Given the description of an element on the screen output the (x, y) to click on. 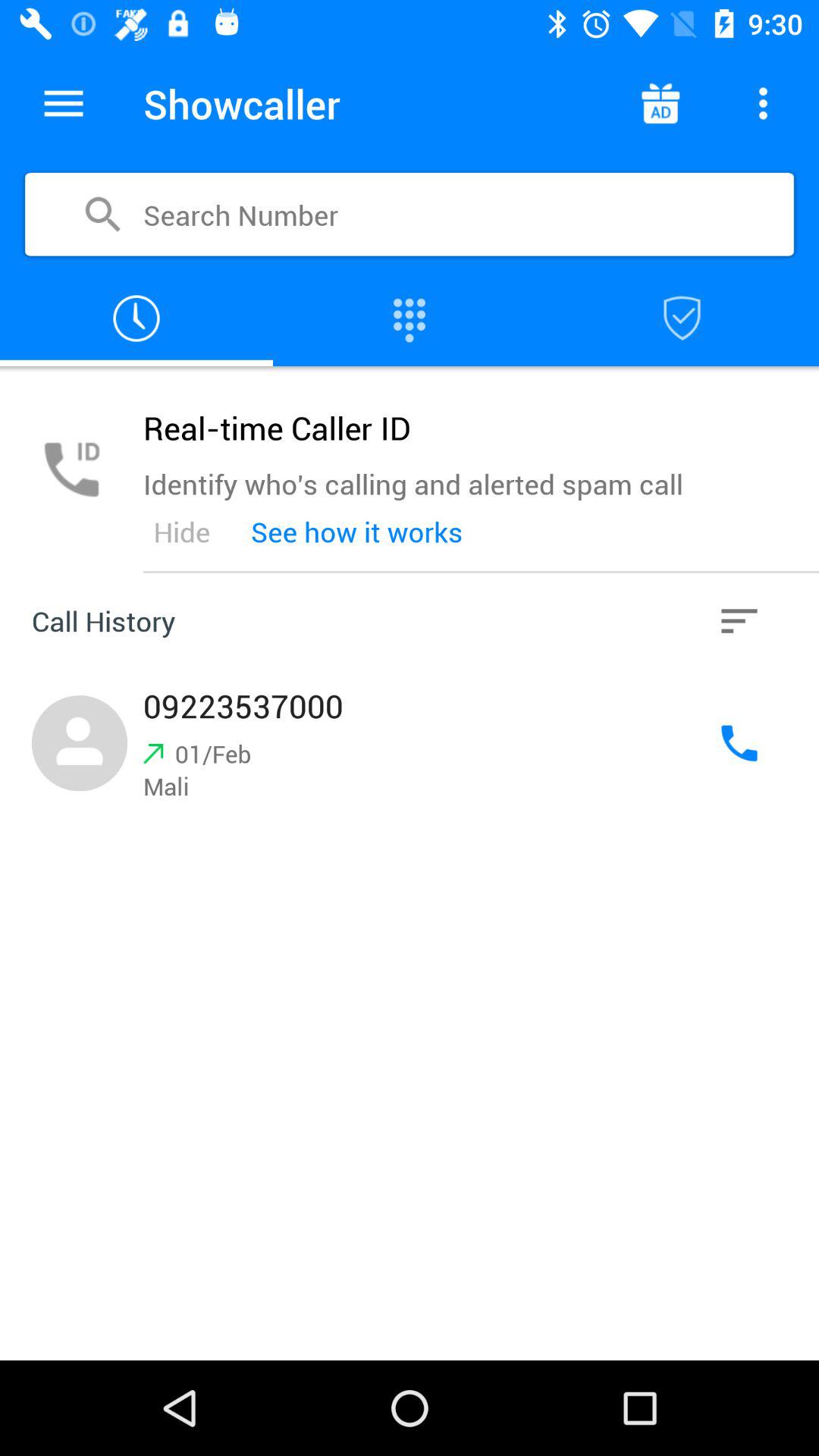
time check (136, 318)
